Given the description of an element on the screen output the (x, y) to click on. 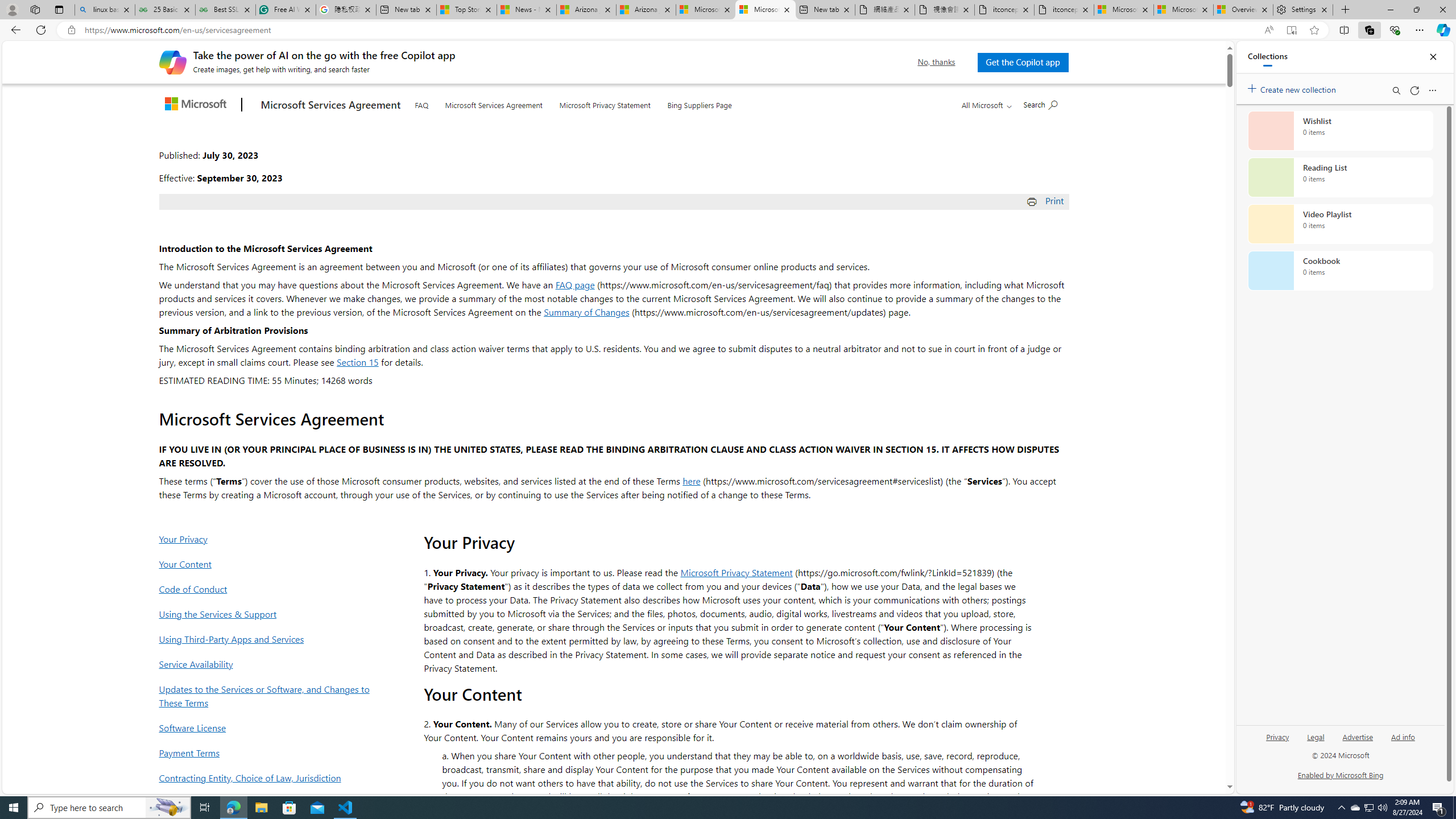
Using the Services & Support (267, 613)
FAQ page (574, 284)
Cookbook collection, 0 items (1339, 270)
Best SSL Certificates Provider in India - GeeksforGeeks (225, 9)
Create new collection (1293, 87)
Section 15 (357, 361)
Bing Suppliers Page (699, 103)
Microsoft Privacy Statement (604, 103)
